Given the description of an element on the screen output the (x, y) to click on. 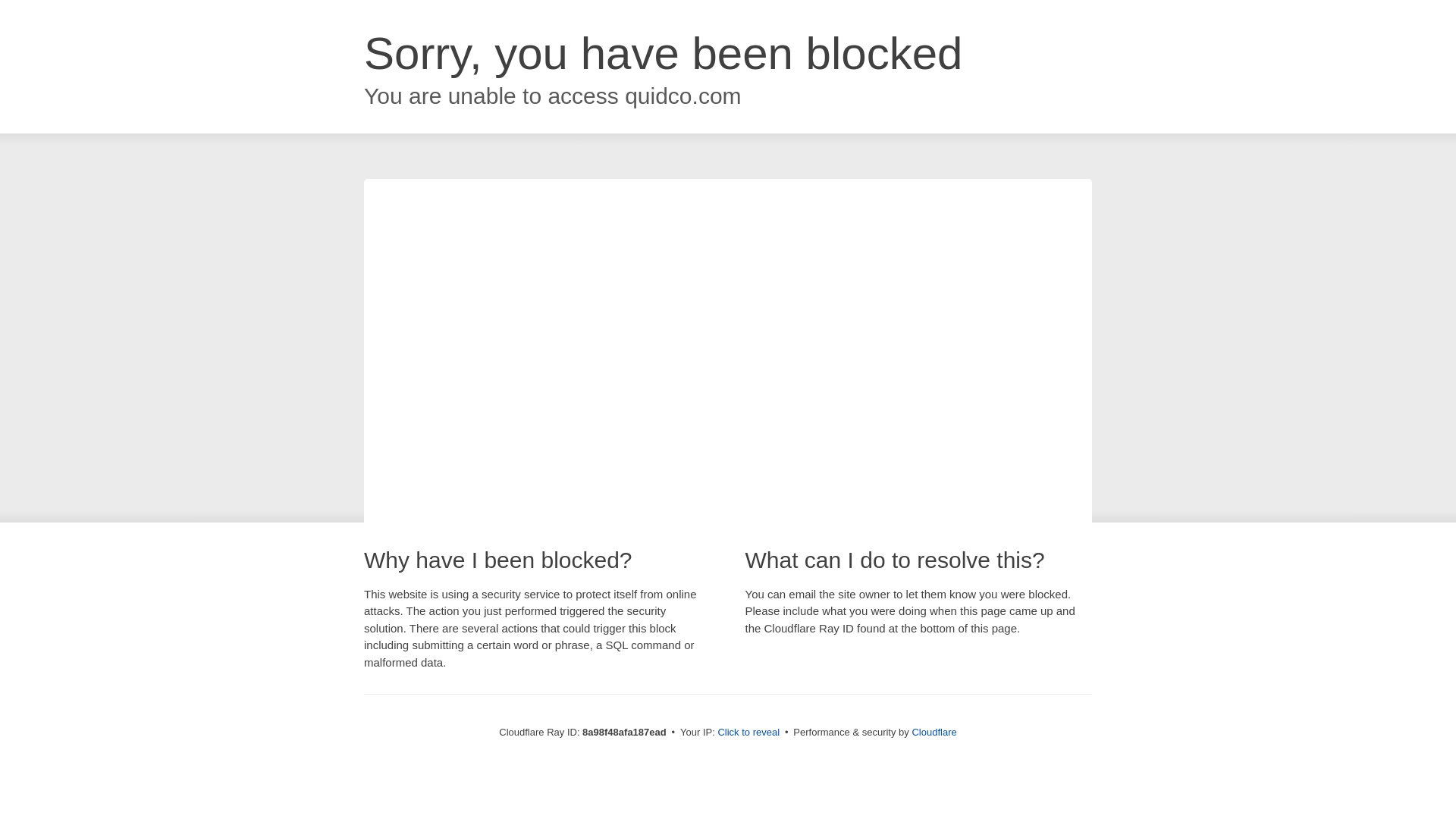
Cloudflare (933, 731)
Click to reveal (747, 732)
